Given the description of an element on the screen output the (x, y) to click on. 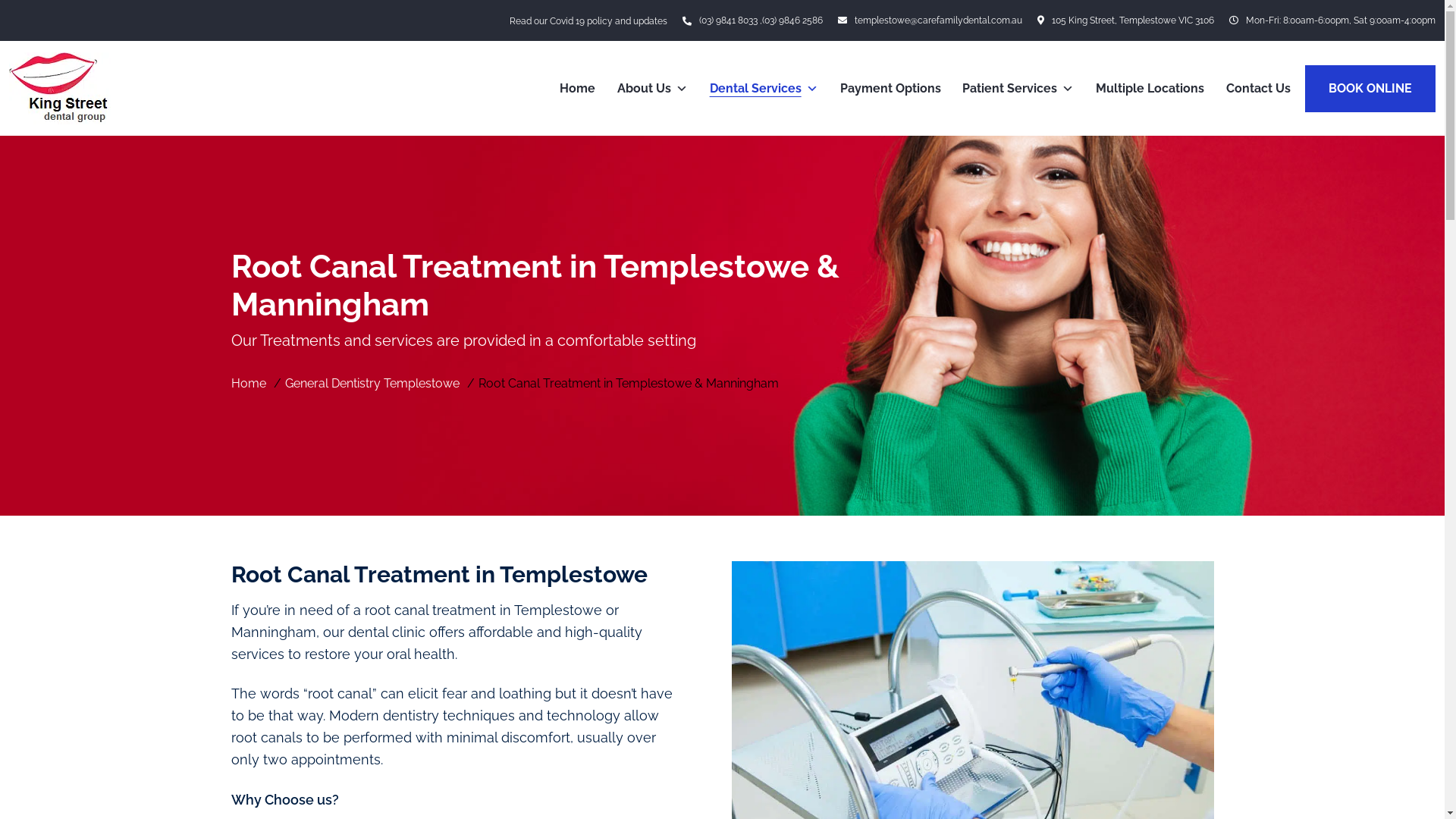
Home Element type: text (249, 383)
(03) 9841 8033 , Element type: text (730, 20)
templestowe@carefamilydental.com.au Element type: text (929, 20)
Contact Us Element type: text (1258, 87)
105 King Street, Templestowe VIC 3106 Element type: text (1125, 20)
Home Element type: text (577, 87)
(03) 9846 2586 Element type: text (792, 20)
Patient Services Element type: text (1017, 87)
Multiple Locations Element type: text (1149, 87)
About Us Element type: text (652, 87)
Read our Covid 19 policy and updates Element type: text (588, 20)
Mon-Fri: 8:00am-6:00pm, Sat 9:00am-4:00pm Element type: text (1332, 20)
Payment Options Element type: text (890, 87)
BOOK ONLINE Element type: text (1370, 88)
Dental Services Element type: text (763, 87)
General Dentistry Templestowe Element type: text (374, 383)
